Given the description of an element on the screen output the (x, y) to click on. 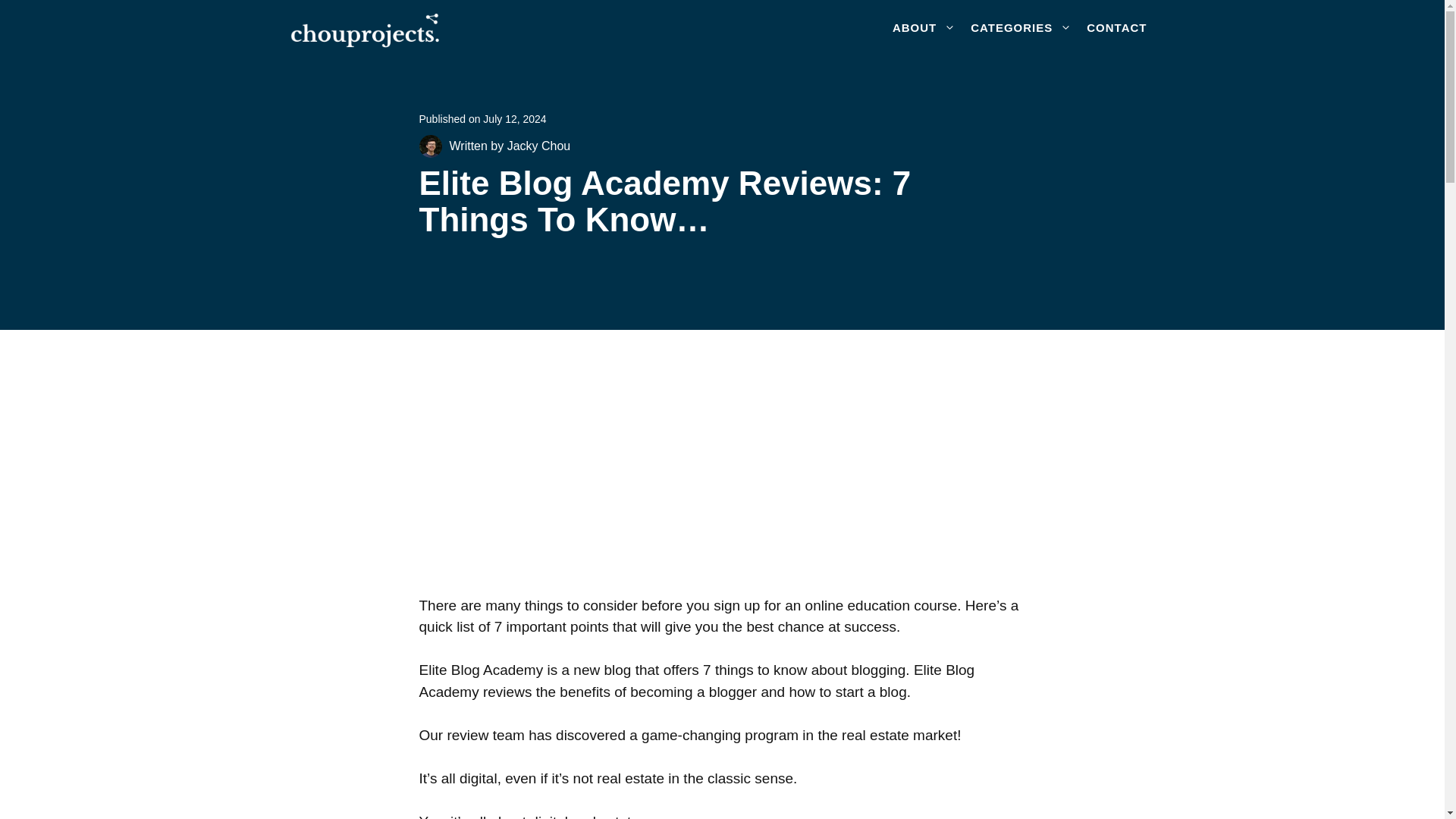
ABOUT (923, 27)
CONTACT (1116, 27)
CATEGORIES (1020, 27)
